Given the description of an element on the screen output the (x, y) to click on. 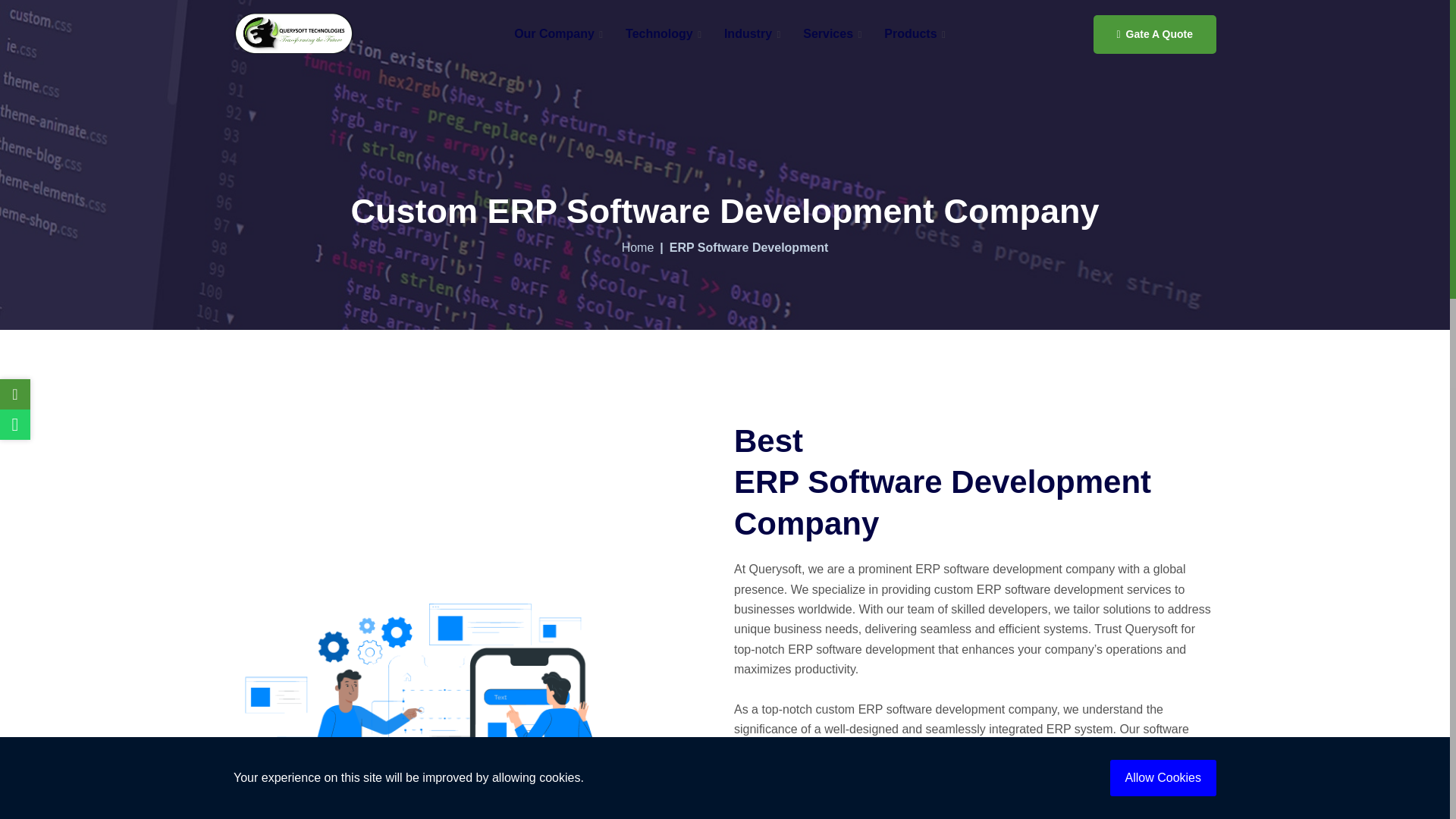
Technology (663, 33)
Our Company (557, 33)
